Given the description of an element on the screen output the (x, y) to click on. 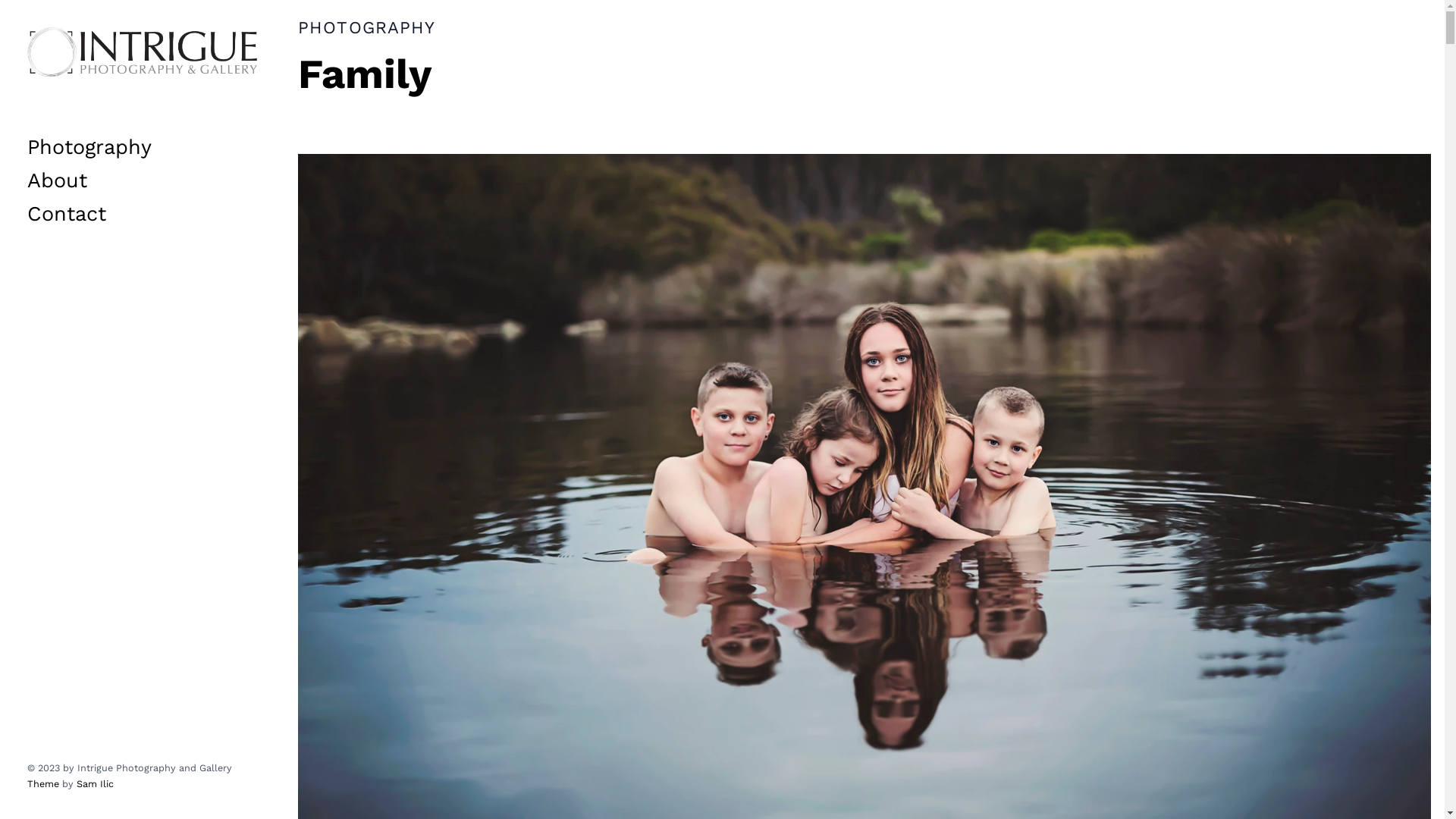
About Element type: text (57, 180)
Photography Element type: text (89, 146)
Theme Element type: text (43, 783)
Sam Ilic Element type: text (94, 783)
Skip to content Element type: text (53, 53)
Contact Element type: text (66, 213)
